Given the description of an element on the screen output the (x, y) to click on. 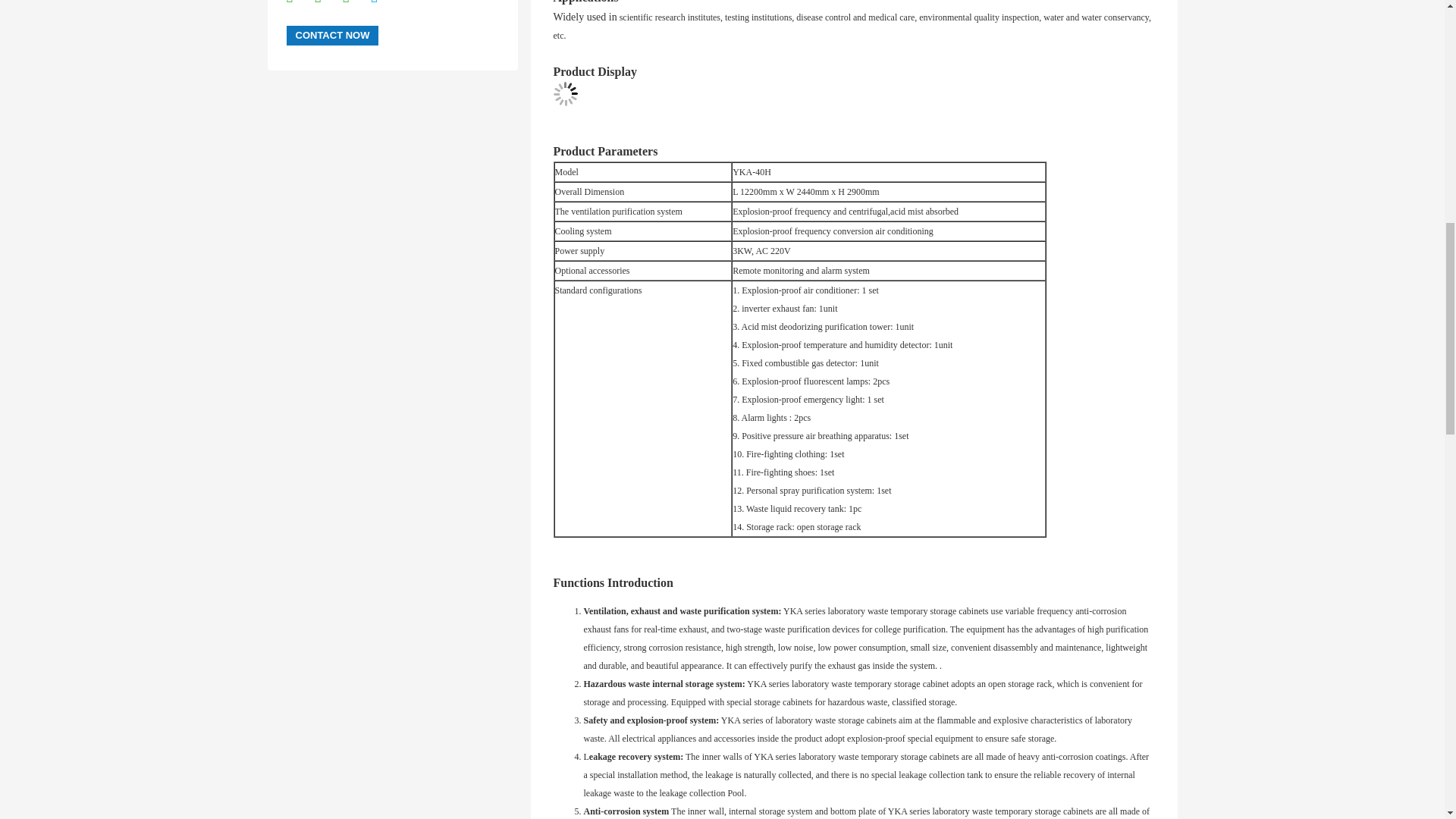
Contact Now (332, 35)
